Given the description of an element on the screen output the (x, y) to click on. 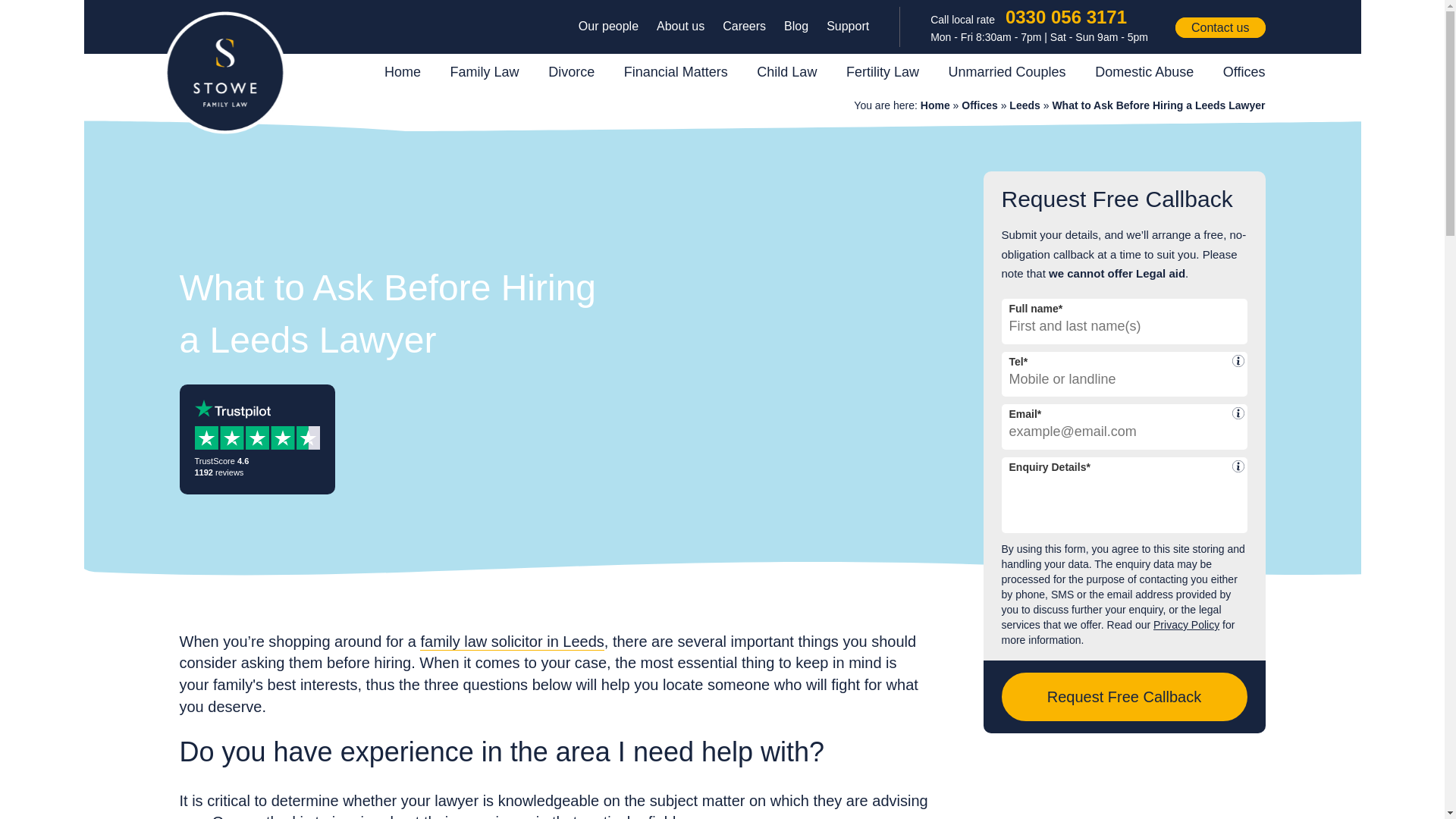
Offices (978, 105)
Home (935, 105)
Leeds (1024, 105)
stowe-family-law-logo (224, 72)
Request Free Callback (1123, 696)
